Given the description of an element on the screen output the (x, y) to click on. 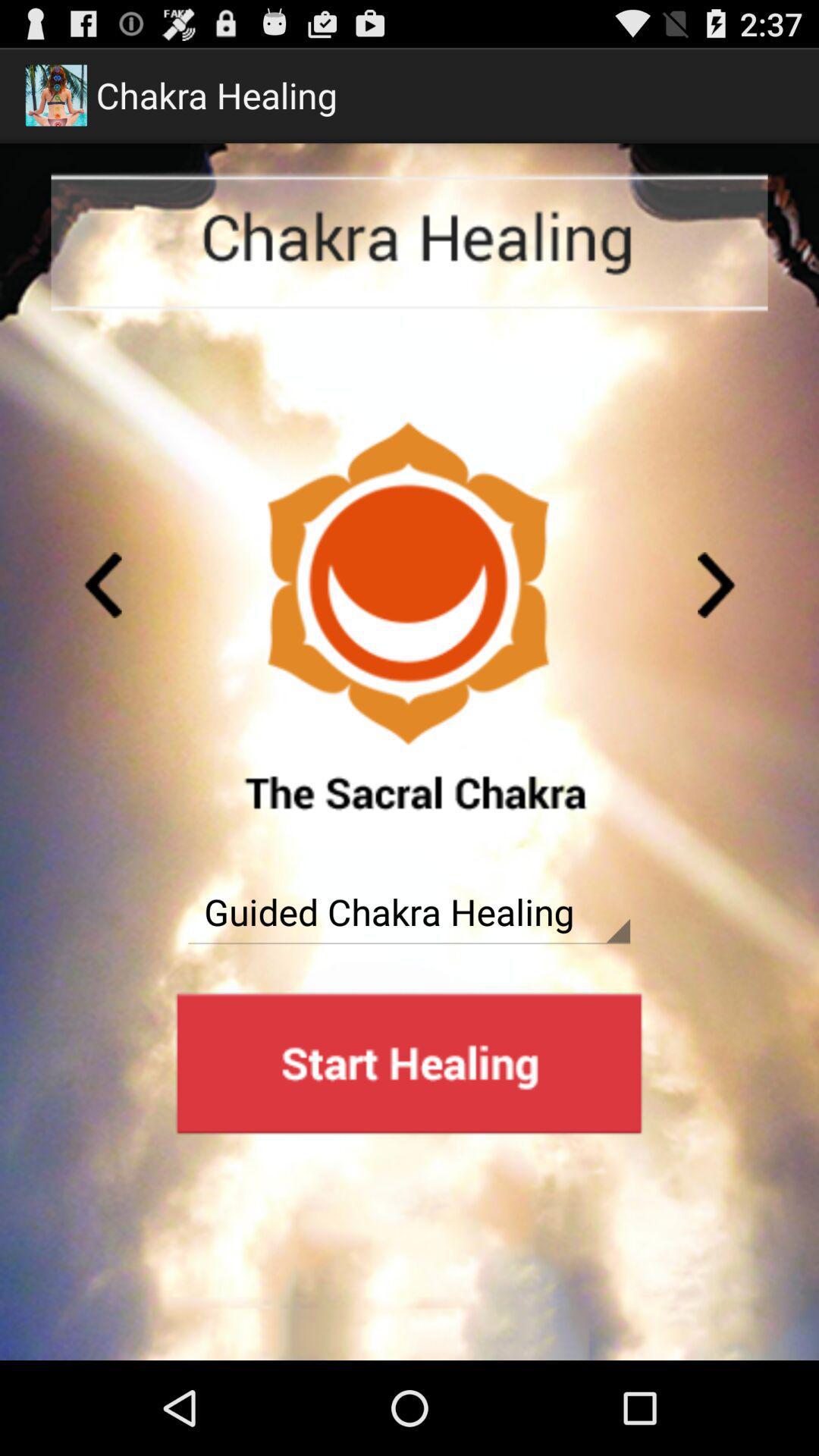
previous page (102, 585)
